Given the description of an element on the screen output the (x, y) to click on. 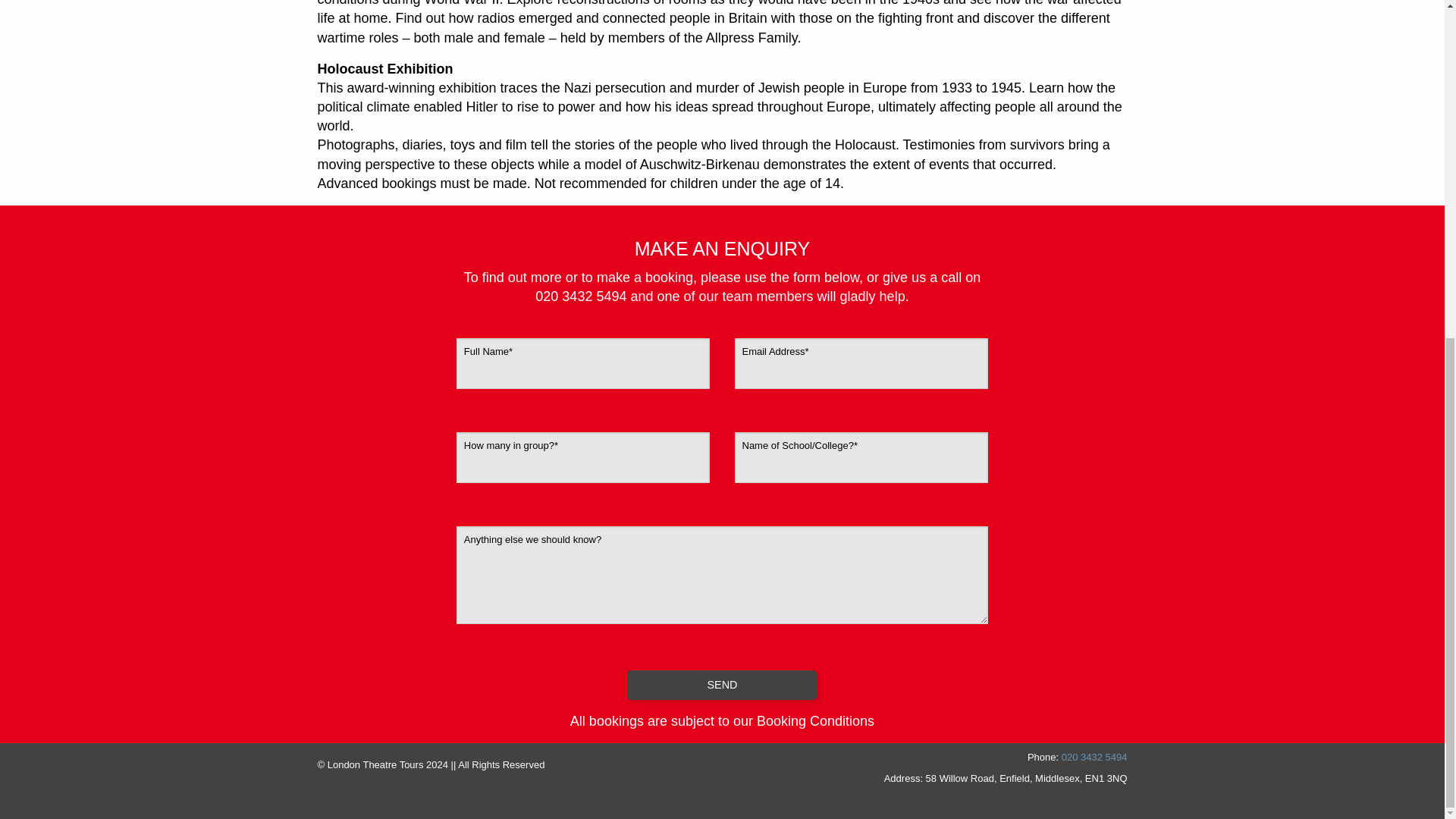
020 3432 5494 (580, 296)
020 3432 5494 (1093, 756)
Send (721, 685)
Booking Conditions (816, 720)
Send (721, 685)
